Given the description of an element on the screen output the (x, y) to click on. 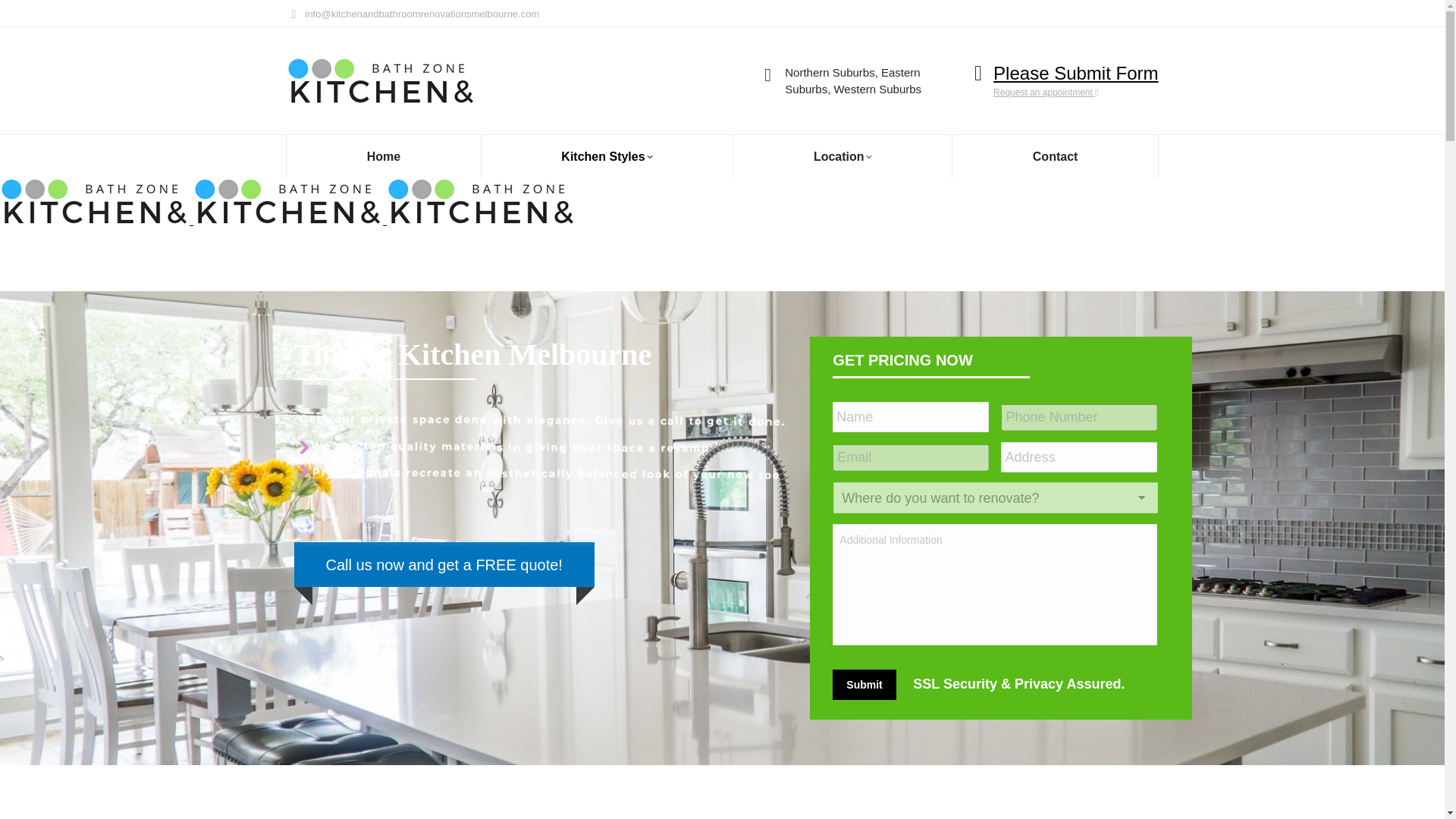
Submit (863, 684)
Location (842, 157)
Home (383, 157)
Please Submit Form (1074, 73)
Kitchen Styles (606, 157)
Request an appointment (1044, 91)
